Given the description of an element on the screen output the (x, y) to click on. 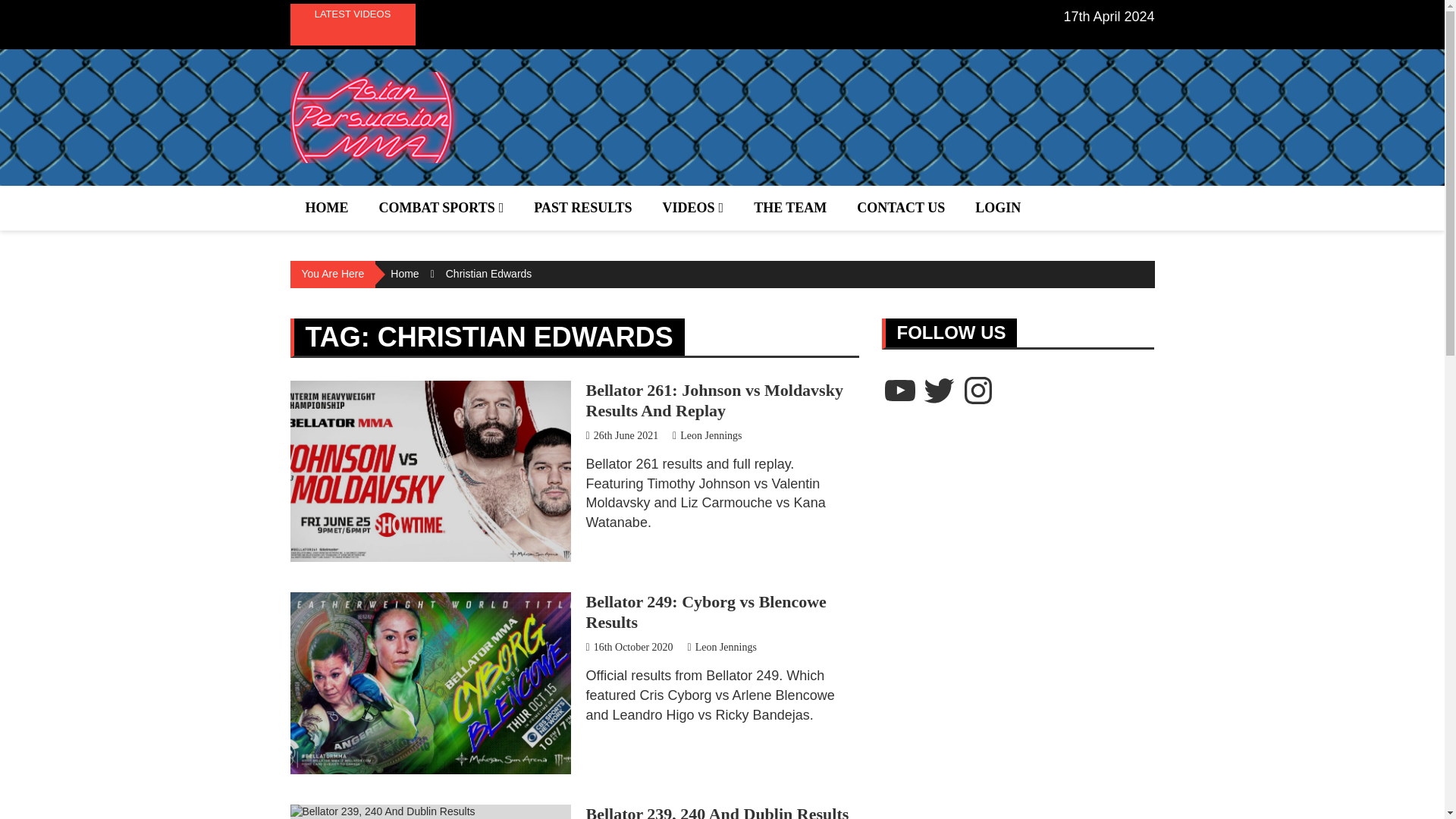
HOME (325, 208)
Bellator 239, 240 And Dublin Results (716, 811)
Bellator 249: Cyborg vs Blencowe Results (705, 611)
PAST RESULTS (582, 208)
THE TEAM (789, 208)
Home (404, 273)
16th October 2020 (628, 646)
CONTACT US (900, 208)
Leon Jennings (706, 435)
26th June 2021 (621, 435)
Leon Jennings (721, 646)
COMBAT SPORTS (441, 208)
Bellator 261: Johnson vs Moldavsky Results And Replay (714, 399)
LOGIN (997, 208)
Christian Edwards (488, 273)
